Given the description of an element on the screen output the (x, y) to click on. 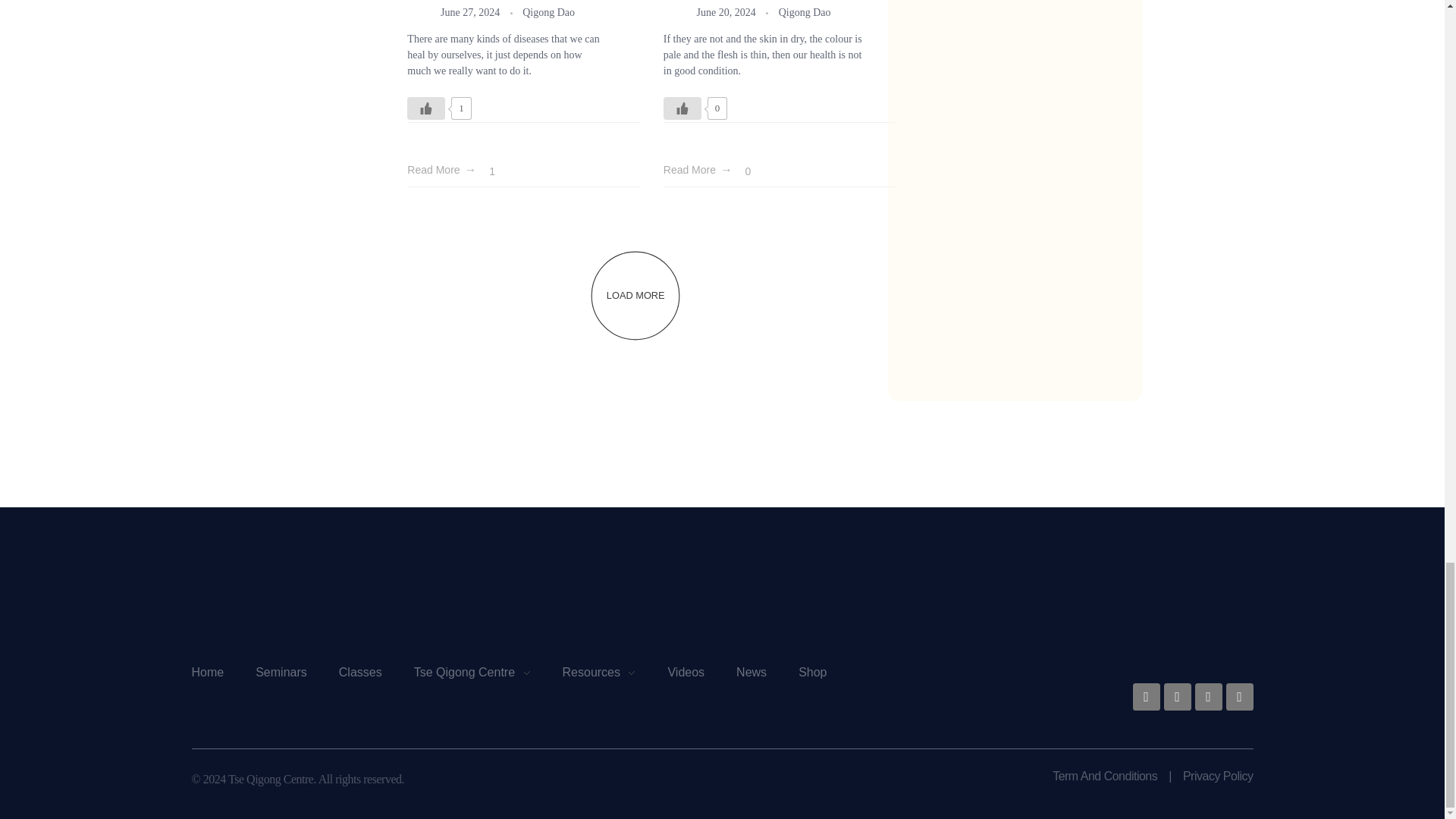
View all posts in Qigong Dao (804, 12)
View all posts in Qigong Dao (548, 12)
